Given the description of an element on the screen output the (x, y) to click on. 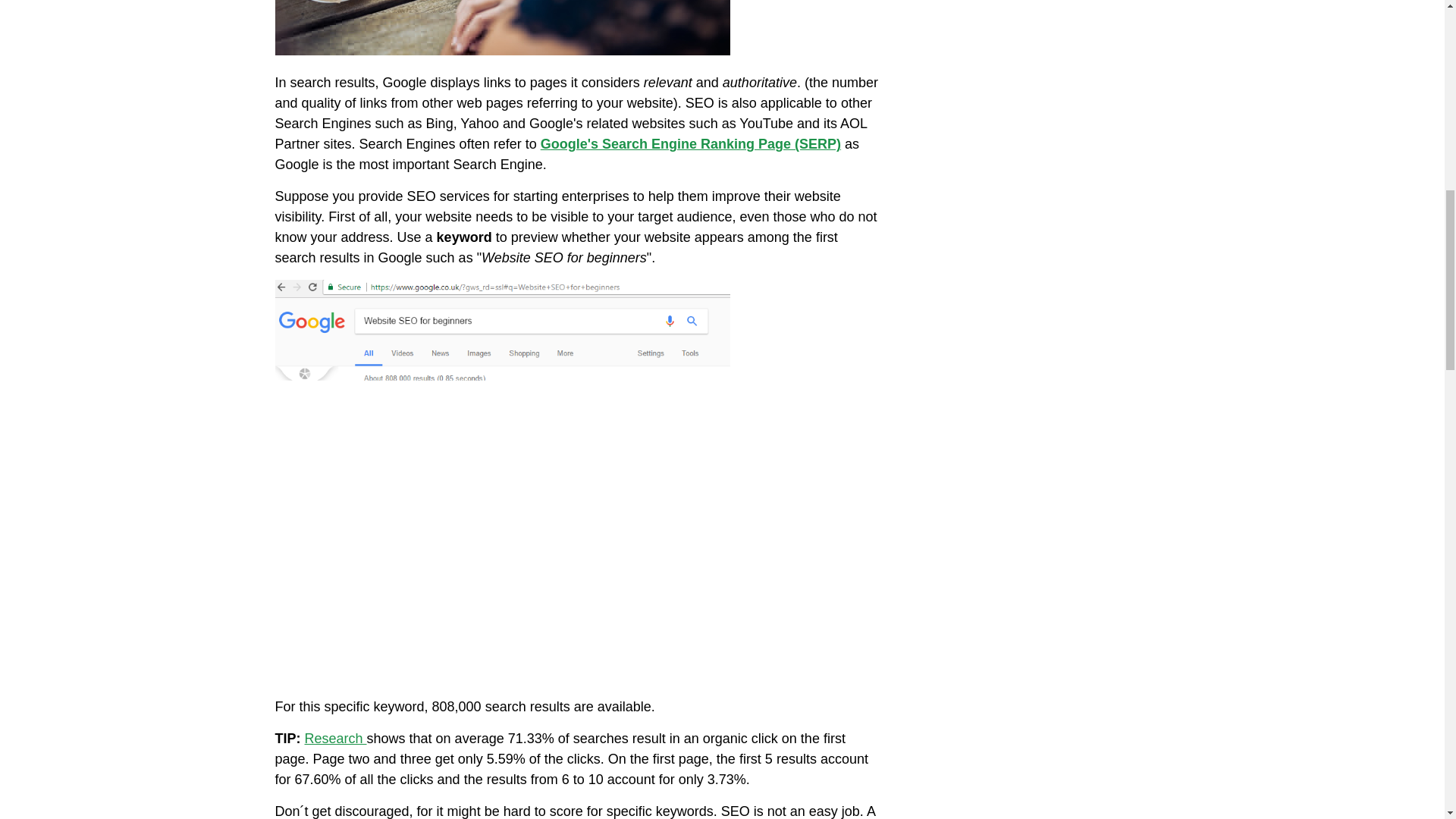
Google' (565, 143)
Research (335, 738)
